Given the description of an element on the screen output the (x, y) to click on. 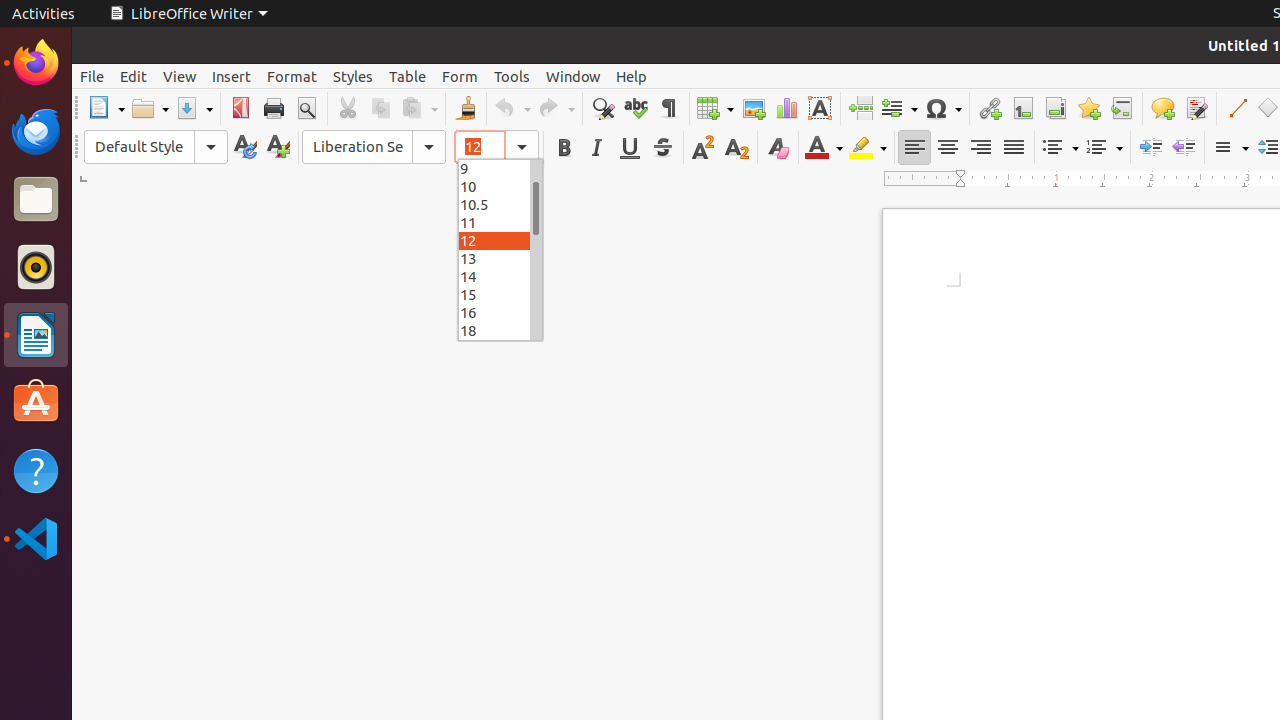
Left Element type: toggle-button (914, 147)
Line Spacing Element type: push-button (1230, 147)
14 Element type: list-item (500, 276)
Table Element type: push-button (715, 108)
LibreOffice Writer Element type: menu (188, 13)
